Given the description of an element on the screen output the (x, y) to click on. 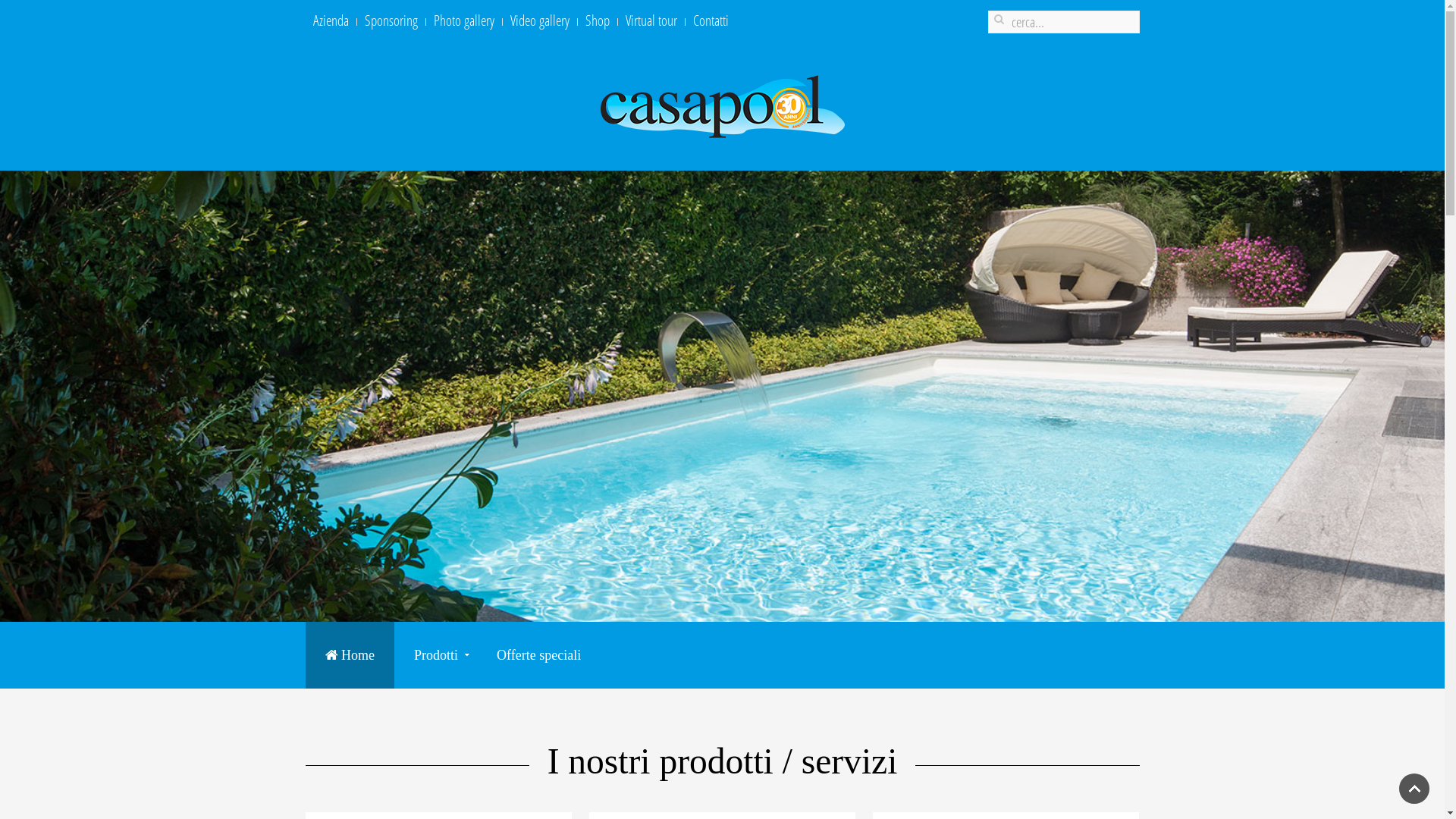
Home Element type: text (349, 654)
Video gallery Element type: text (538, 20)
Shop Element type: text (597, 20)
Azienda Element type: text (330, 20)
Photo gallery Element type: text (463, 20)
Sponsoring Element type: text (390, 20)
Virtual tour Element type: text (650, 20)
Contatti Element type: text (710, 20)
Prodotti Element type: text (435, 654)
Offerte speciali Element type: text (538, 654)
